Given the description of an element on the screen output the (x, y) to click on. 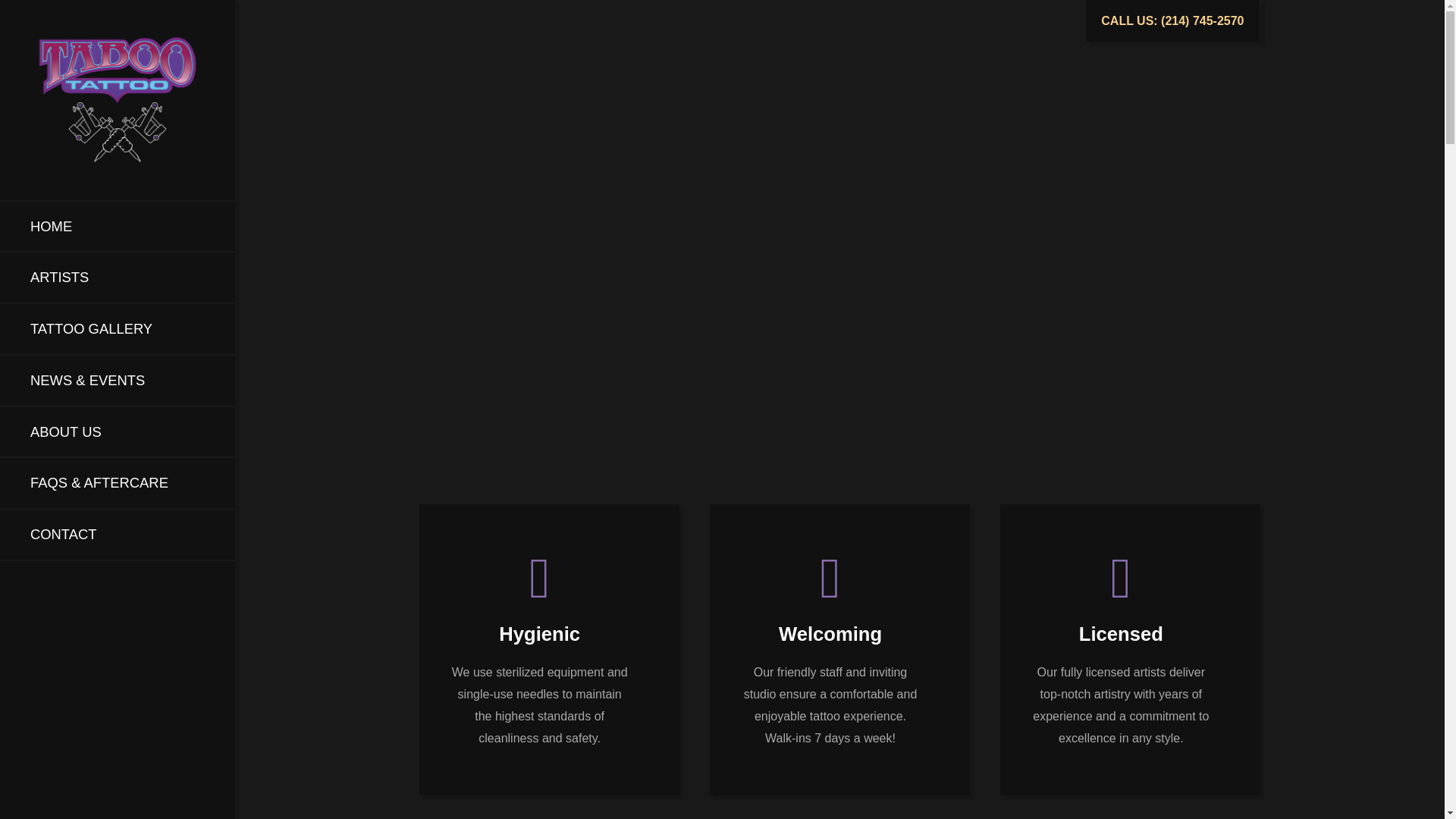
HOME (117, 226)
Hygienic (539, 577)
CONTACT (117, 534)
ARTISTS (117, 277)
ABOUT US (117, 432)
Welcoming (830, 577)
Licensed (1121, 577)
